Given the description of an element on the screen output the (x, y) to click on. 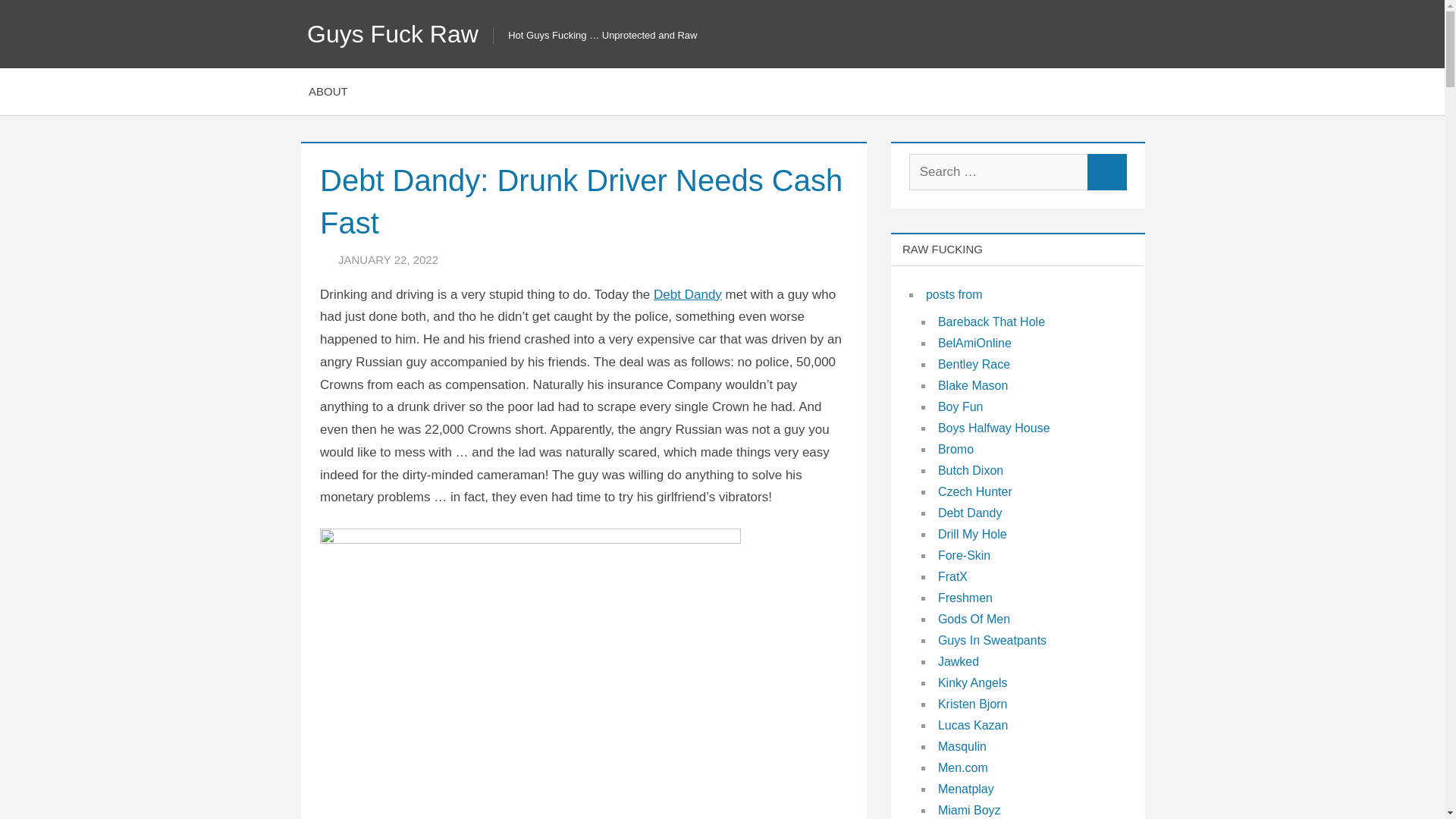
Debt Dandy (687, 293)
11:00 pm (387, 259)
Debt Dandy (687, 293)
Guys Fuck Raw (393, 33)
View all posts by timbo (492, 259)
Debt Dandy: Drunk Driver Needs Cash Fast (530, 539)
TIMBO (492, 259)
JANUARY 22, 2022 (387, 259)
ABOUT (328, 91)
